Given the description of an element on the screen output the (x, y) to click on. 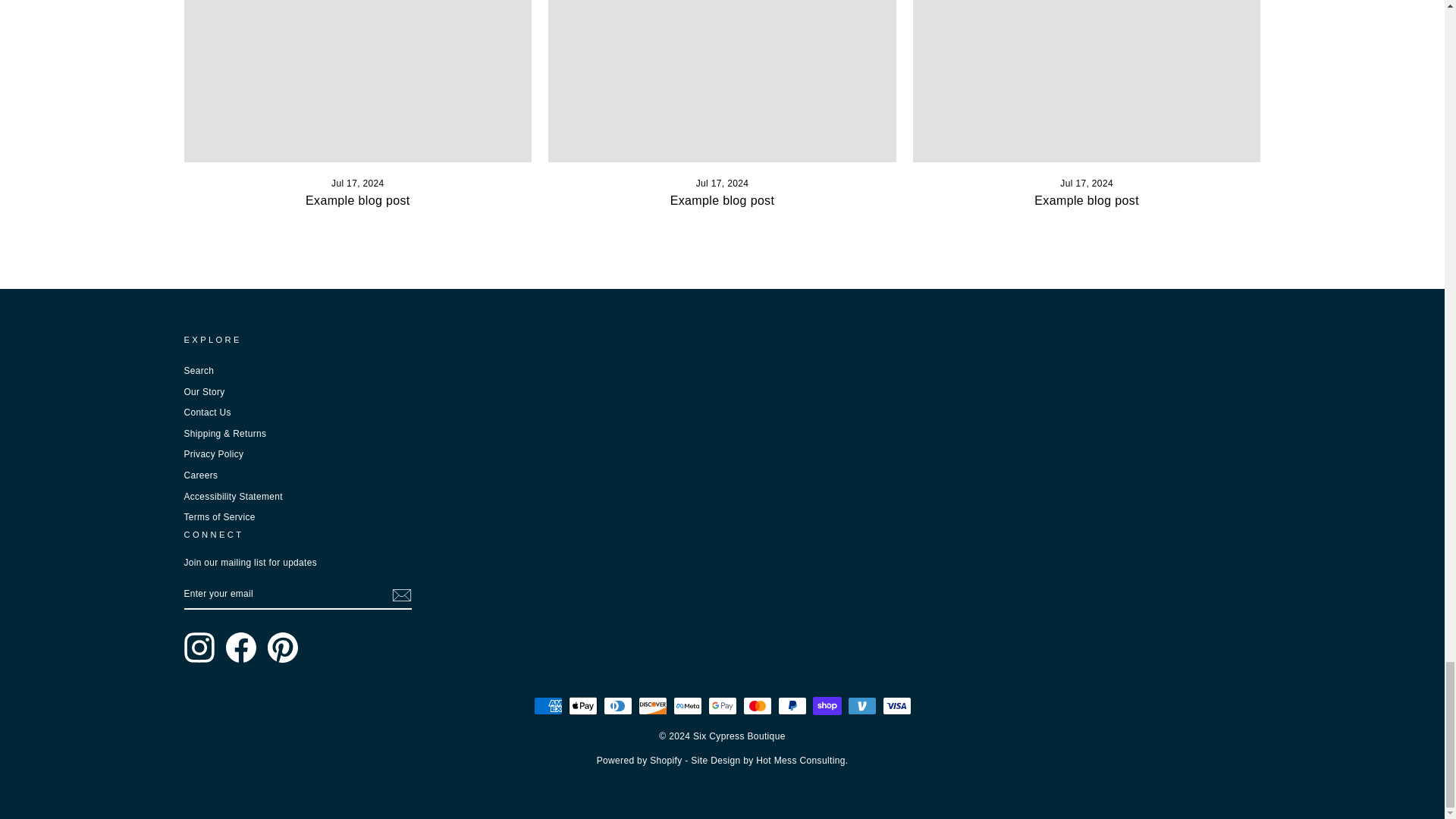
Six Cypress Boutique on Facebook (240, 647)
Diners Club (617, 705)
Meta Pay (686, 705)
Apple Pay (582, 705)
Six Cypress Boutique on Instagram (198, 647)
American Express (548, 705)
Discover (652, 705)
Six Cypress Boutique on Pinterest (281, 647)
